Given the description of an element on the screen output the (x, y) to click on. 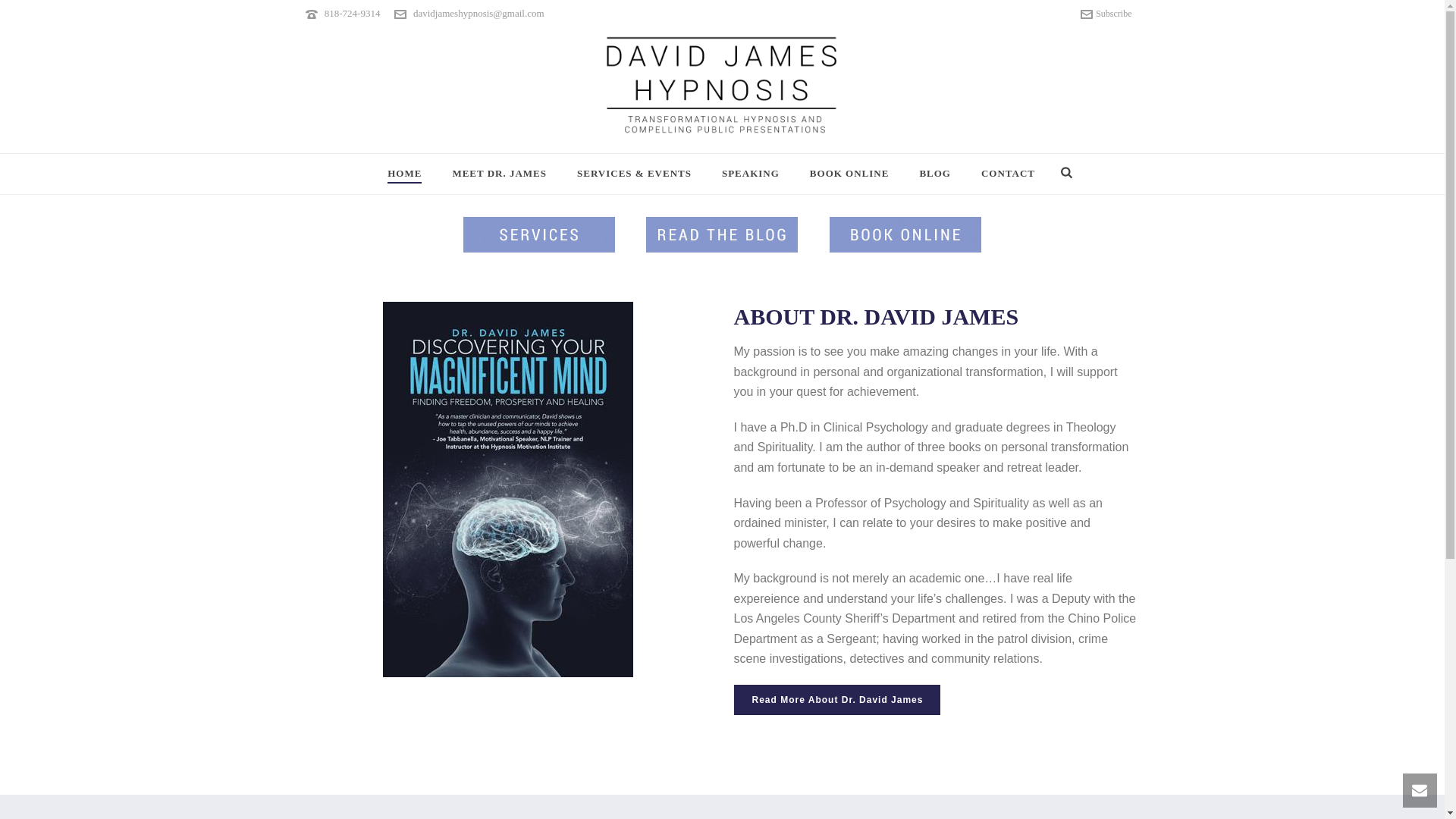
CONTACT (1007, 173)
Follow Me On twitter (437, 665)
Follow Me On youtube (478, 665)
818-724-9314 (352, 12)
SPEAKING (750, 173)
HOME (404, 173)
Subscribe (721, 705)
MEET DR. JAMES (499, 173)
CONTACT (1007, 173)
Read More About Dr. David James (836, 699)
BOOK ONLINE (849, 173)
BLOG (935, 173)
BLOG (935, 173)
MEET DR. JAMES (499, 173)
Follow Me On facebook (398, 665)
